Given the description of an element on the screen output the (x, y) to click on. 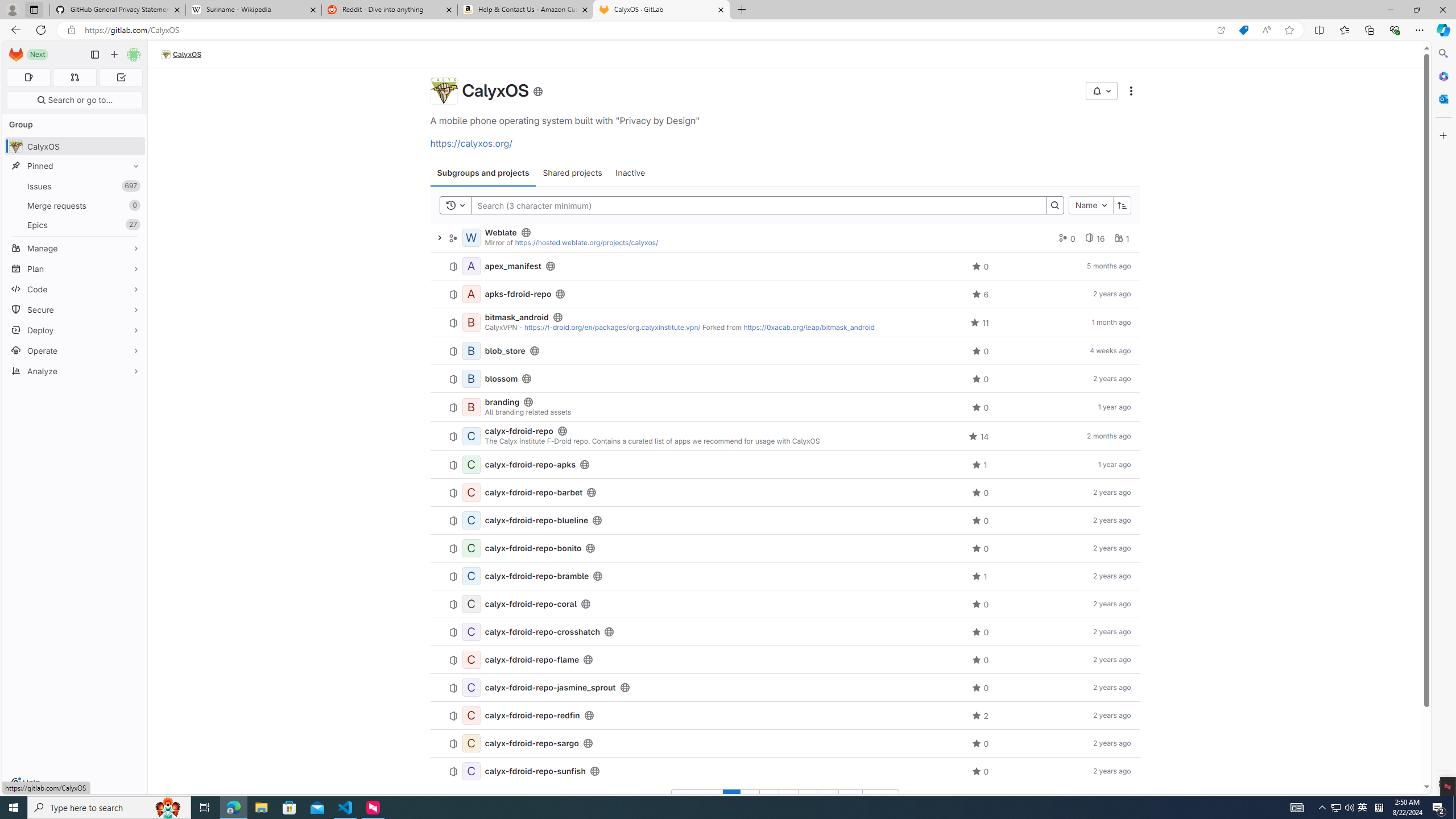
branding (501, 402)
Name (1090, 205)
CalyxOS (443, 90)
5 (807, 799)
Shared projects (571, 172)
Issues697 (74, 185)
Primary navigation sidebar (94, 54)
apks-fdroid-repo (517, 293)
calyx-fdroid-repo-blueline (536, 519)
calyx-fdroid-repo-redfin (531, 714)
